Given the description of an element on the screen output the (x, y) to click on. 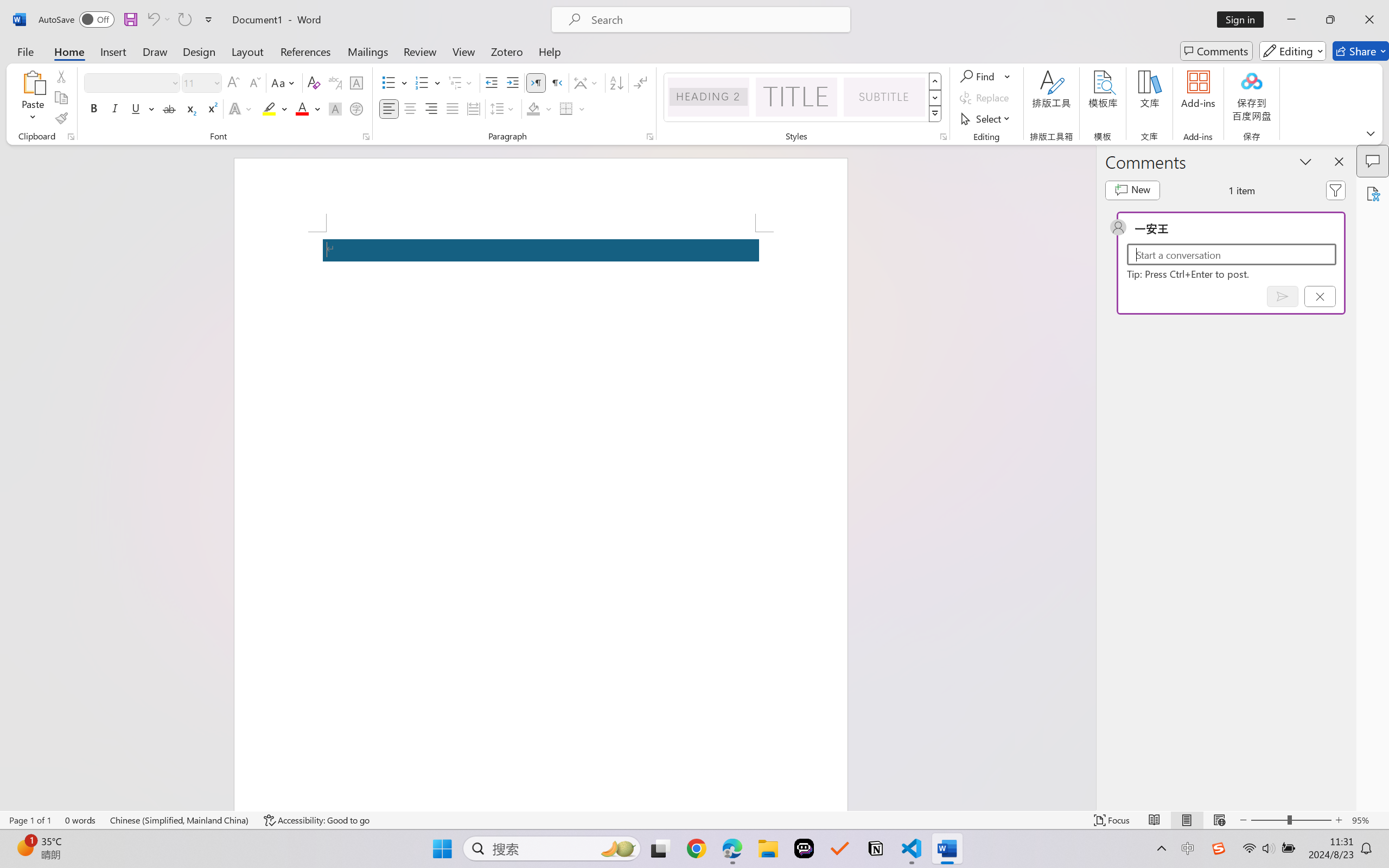
Repeat Accessibility Checker (184, 19)
Undo Apply Quick Style Set (158, 19)
